Given the description of an element on the screen output the (x, y) to click on. 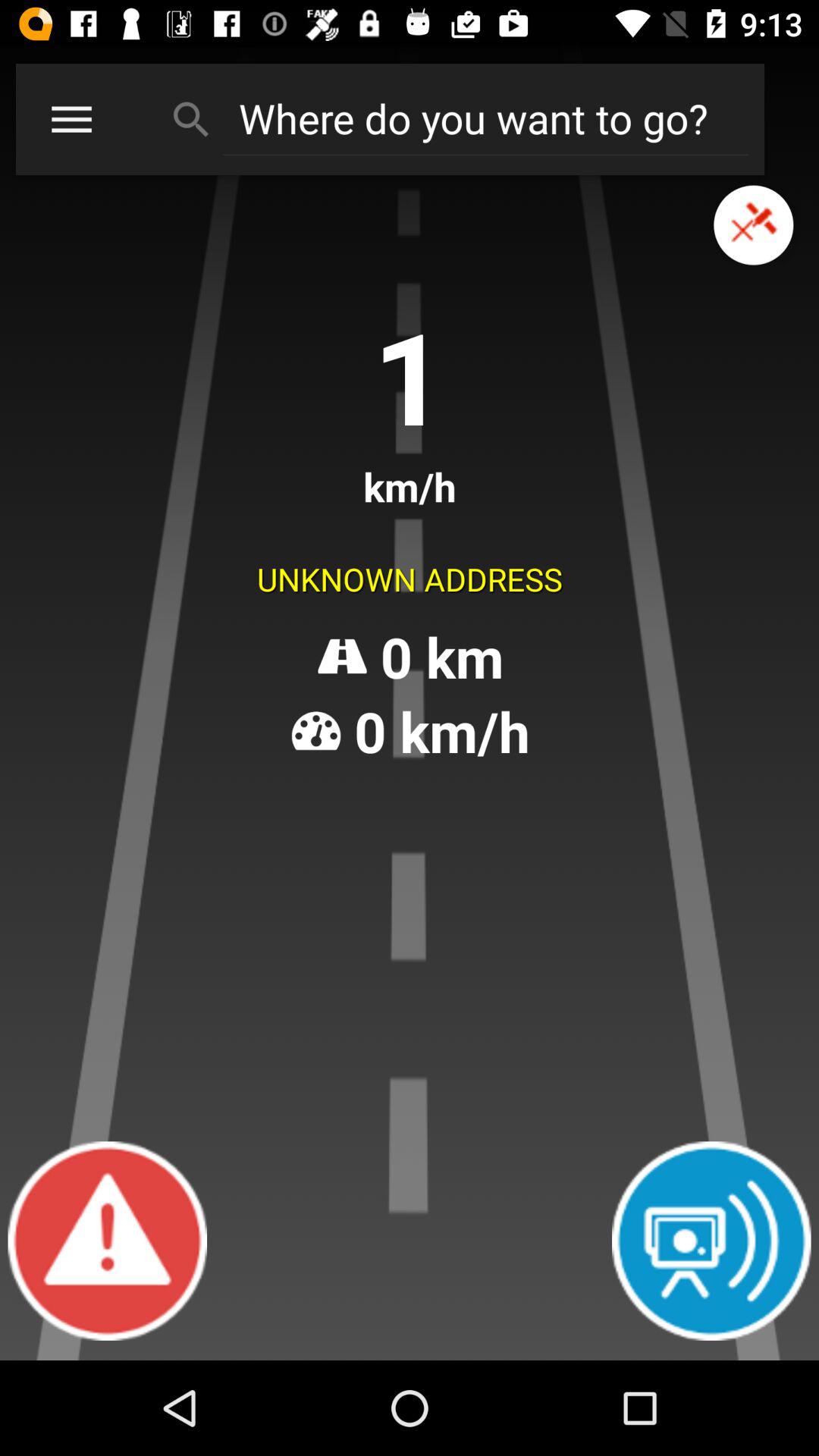
search textbox for destination (485, 118)
